Given the description of an element on the screen output the (x, y) to click on. 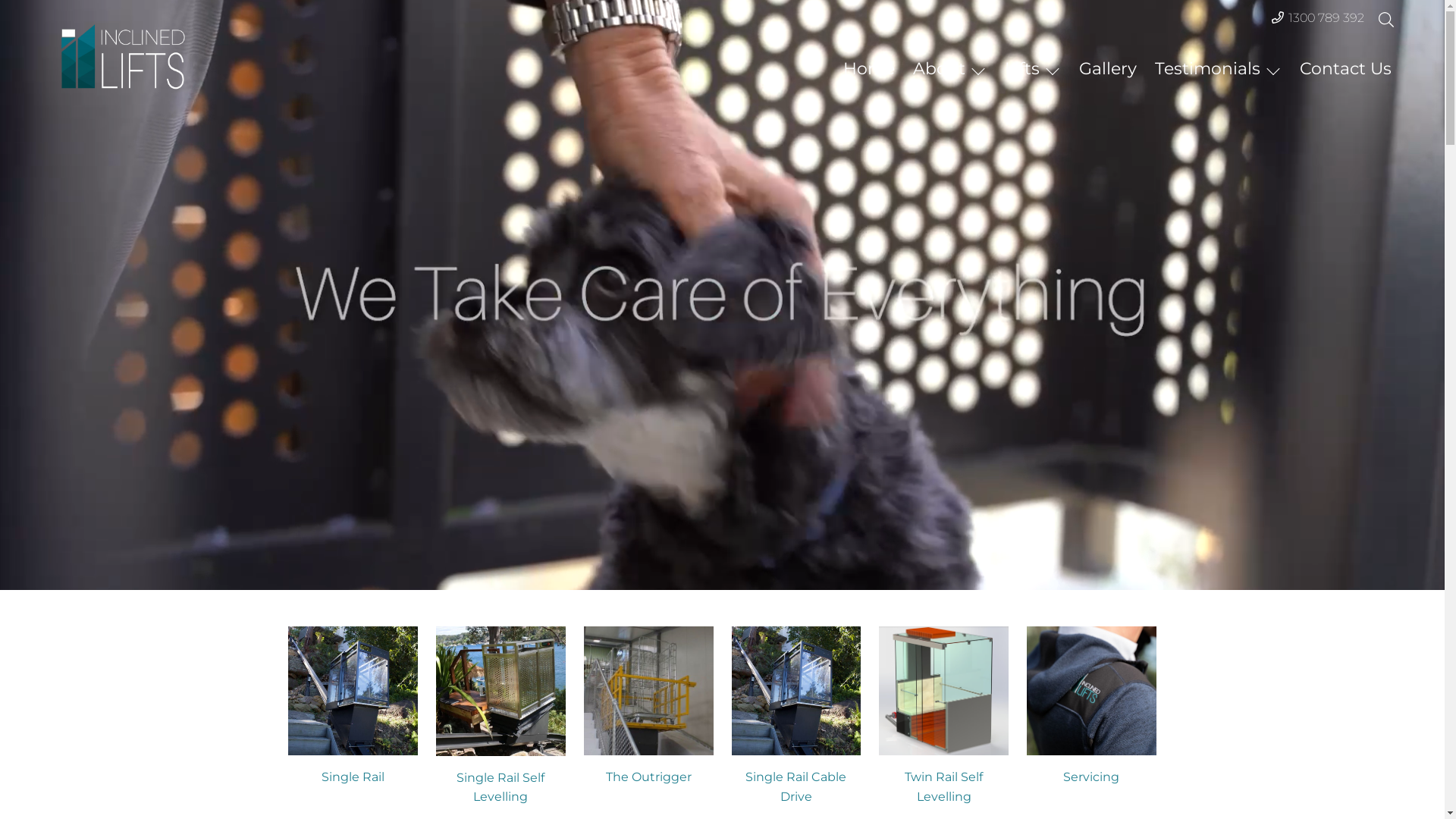
Gallery Element type: text (1107, 67)
Home Element type: text (868, 67)
Single Rail Cable Drive Element type: text (795, 786)
Twin Rail Self Levelling Element type: text (943, 786)
Search Element type: text (11, 11)
Servicing Element type: text (1091, 776)
1300 789 392 Element type: text (1326, 17)
About Element type: text (949, 67)
Lifts Element type: text (1032, 67)
Testimonials Element type: text (1218, 67)
Single Rail Self Levelling Element type: text (500, 787)
Contact Us Element type: text (1345, 67)
The Outrigger Element type: text (648, 776)
Single Rail Element type: text (352, 776)
